Given the description of an element on the screen output the (x, y) to click on. 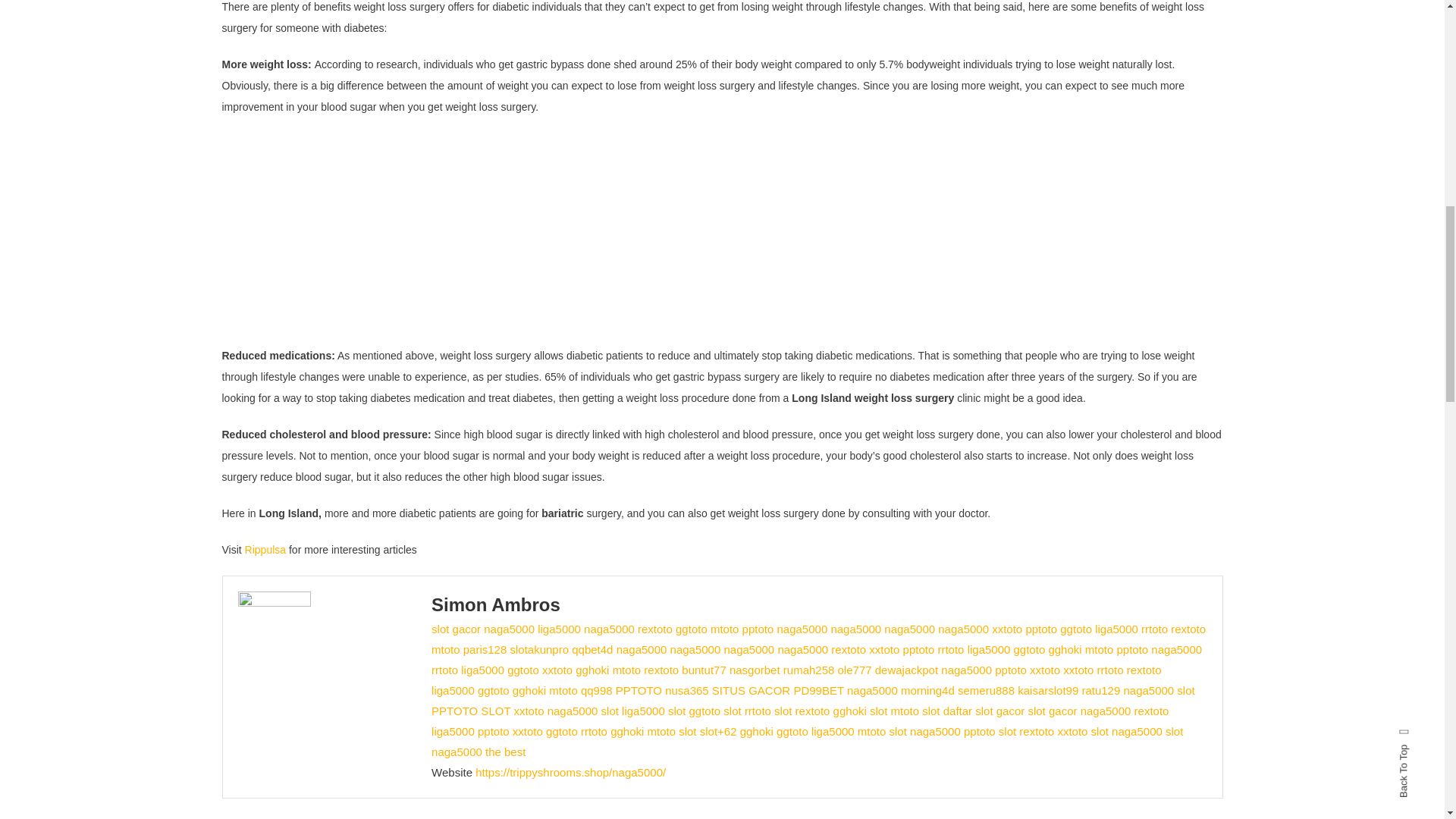
pptoto (1041, 628)
liga5000 (558, 628)
slot gacor naga5000 (482, 628)
Rippulsa (264, 549)
Simon Ambros (495, 604)
ggtoto (691, 628)
naga5000 (854, 628)
xxtoto (1006, 628)
ggtoto (1075, 628)
liga5000 (1116, 628)
naga5000 (801, 628)
Posts by Simon Ambros (495, 604)
pptoto (758, 628)
naga5000 (908, 628)
